Given the description of an element on the screen output the (x, y) to click on. 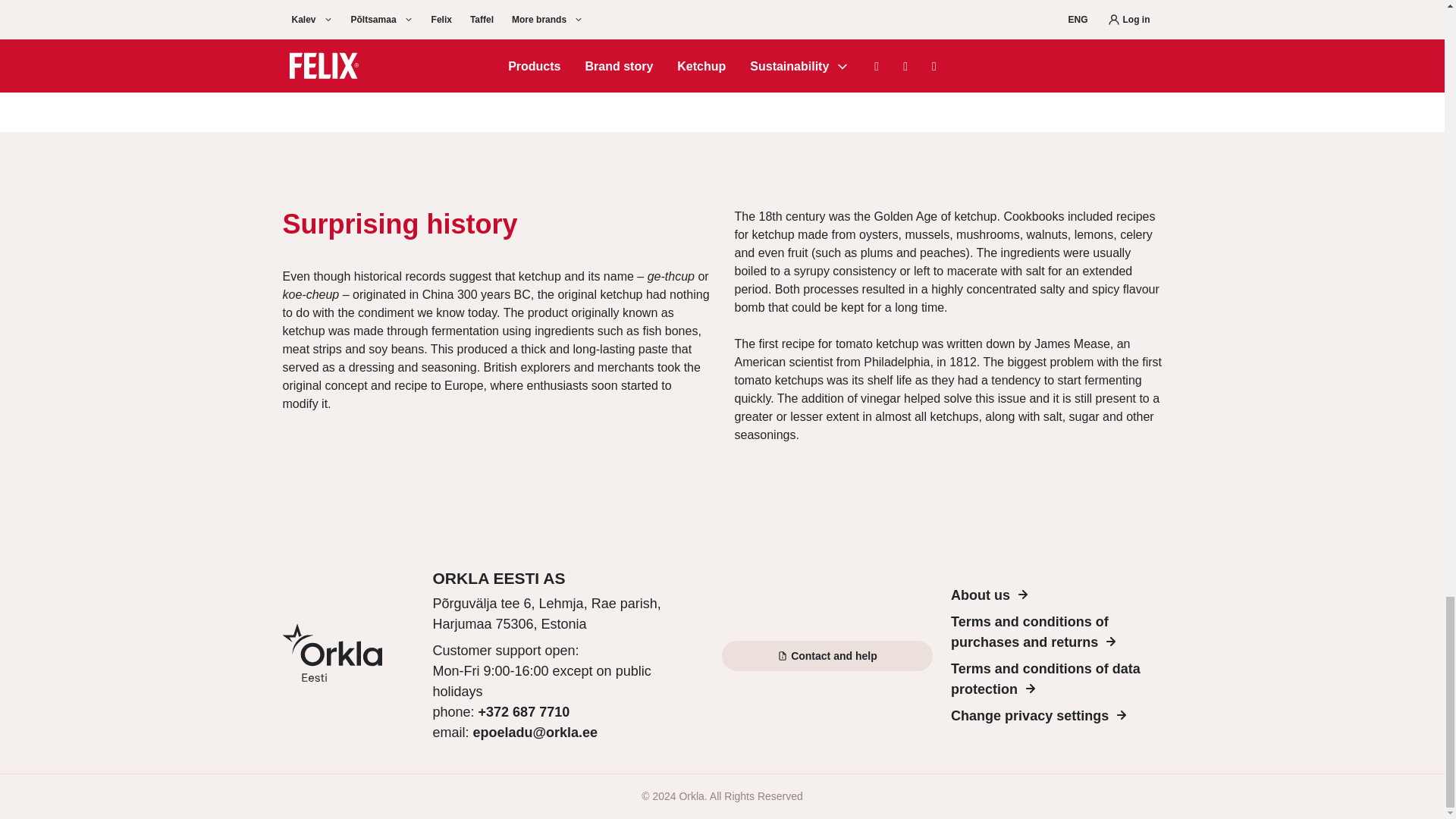
Orkla - some of the most beloved products in Estonia (347, 655)
